Given the description of an element on the screen output the (x, y) to click on. 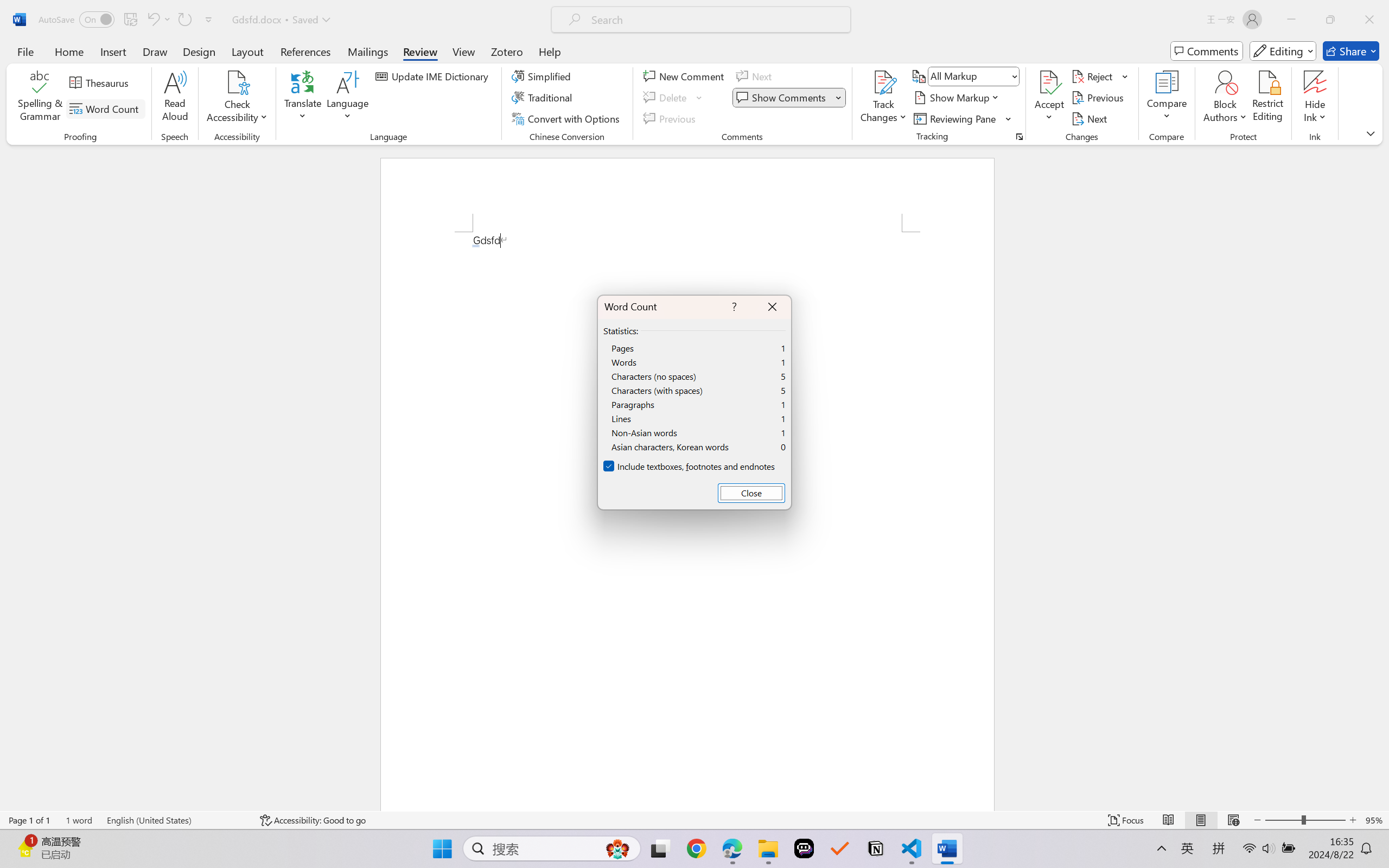
Reject (1100, 75)
Translate (303, 97)
Next (1090, 118)
Delete (666, 97)
Show Markup (957, 97)
Hide Ink (1315, 97)
Reviewing Pane (962, 118)
Word Count (105, 108)
